Given the description of an element on the screen output the (x, y) to click on. 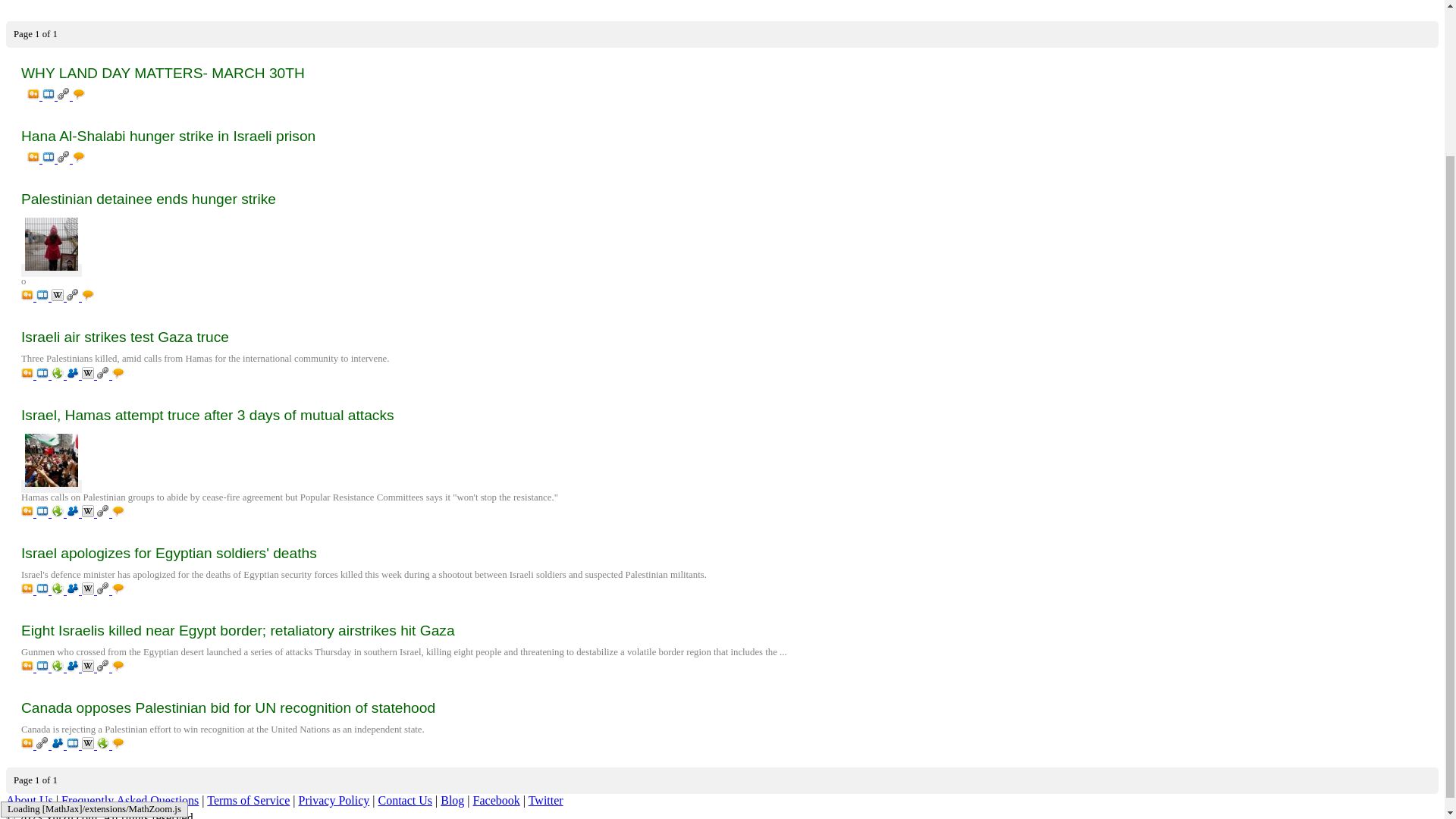
wikipedia (58, 296)
links (73, 296)
Palestinian detainee ends hunger strike (722, 199)
pictures (28, 296)
comment (78, 158)
links (65, 158)
social (73, 374)
Israeli air strikes test Gaza truce (722, 337)
Hana Al-Shalabi hunger strike in Israeli prison (722, 136)
videos (43, 296)
pictures (34, 95)
pictures (34, 158)
videos (50, 158)
videos (50, 95)
pictures (28, 374)
